Given the description of an element on the screen output the (x, y) to click on. 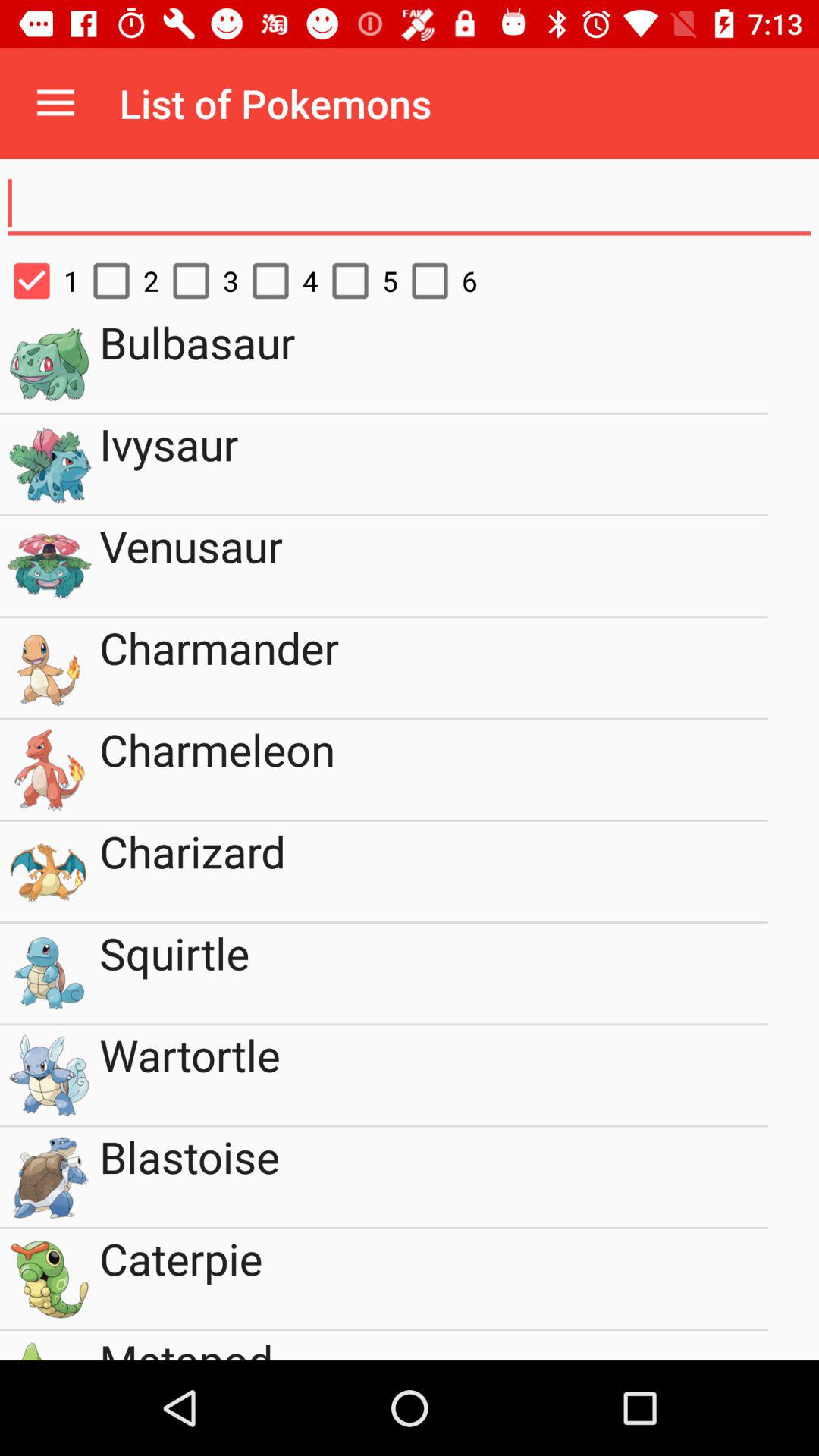
open icon to the right of 2 (198, 280)
